Given the description of an element on the screen output the (x, y) to click on. 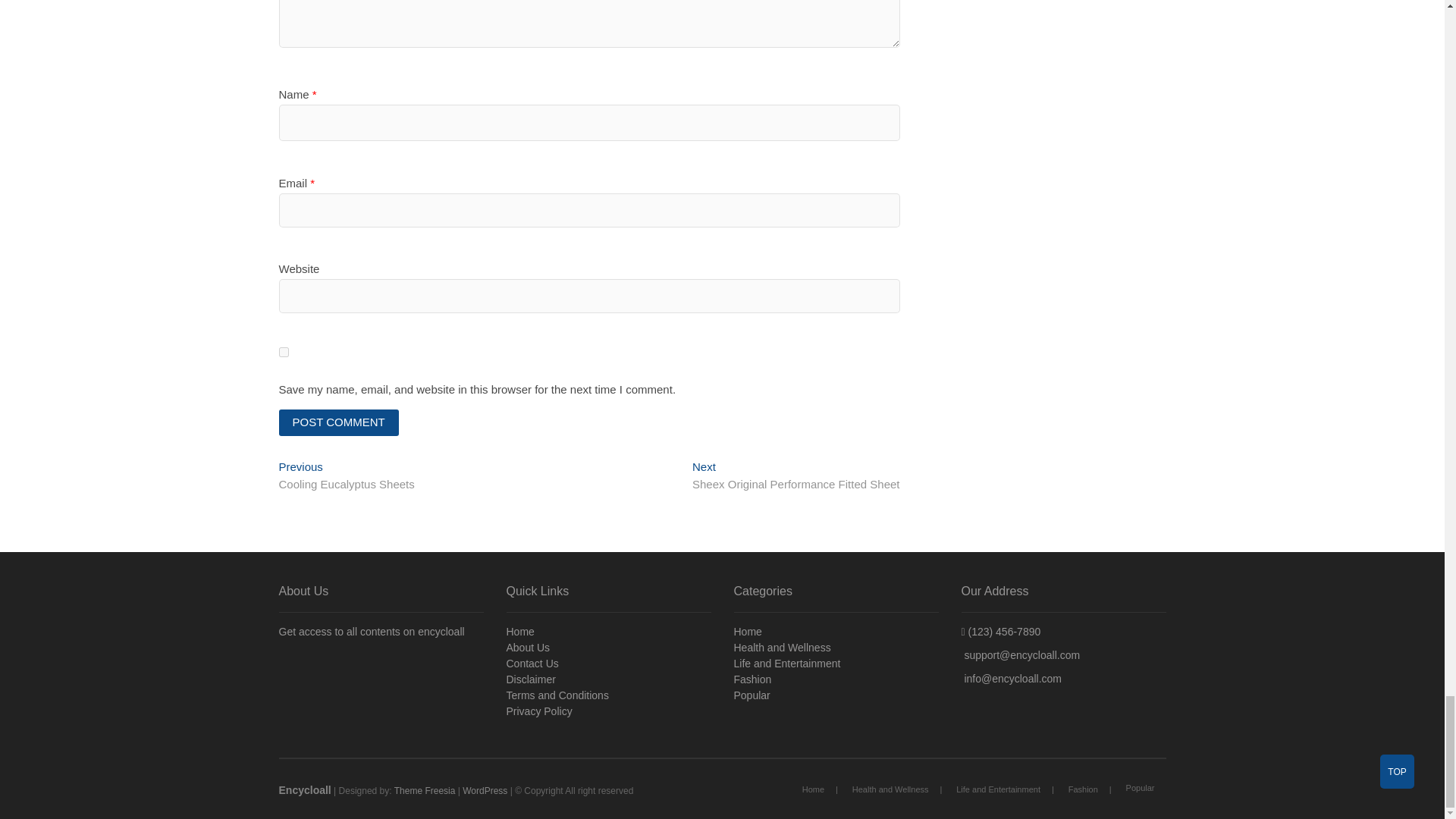
Post Comment (346, 476)
Post Comment (338, 422)
yes (796, 476)
